Given the description of an element on the screen output the (x, y) to click on. 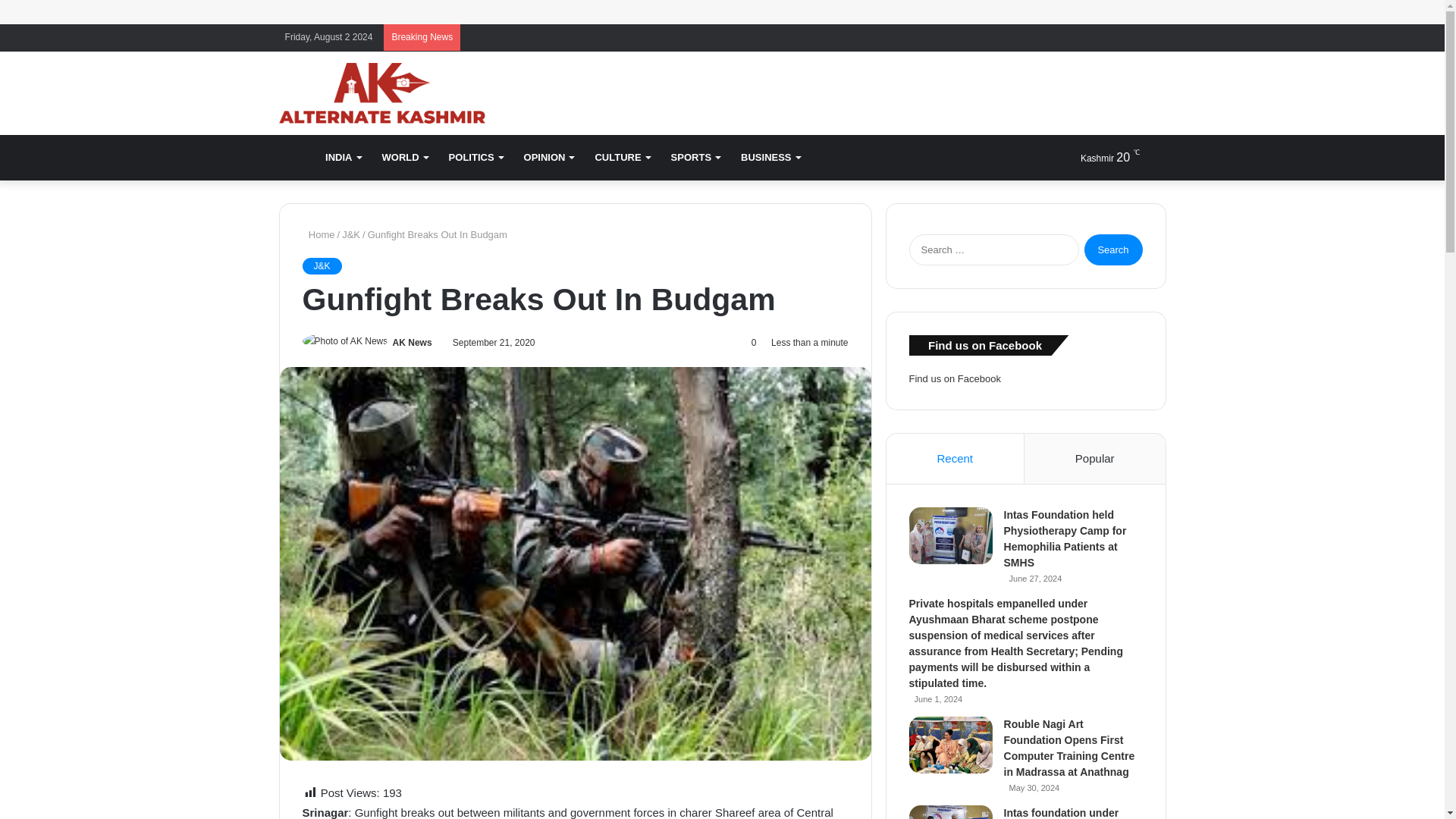
CULTURE (621, 157)
AK News (412, 342)
SPORTS (695, 157)
OPINION (549, 157)
POLITICS (475, 157)
Clear Sky (1096, 157)
Search (1113, 249)
Search (1113, 249)
Alternate Kashmir (381, 93)
WORLD (404, 157)
BUSINESS (769, 157)
INDIA (342, 157)
